Given the description of an element on the screen output the (x, y) to click on. 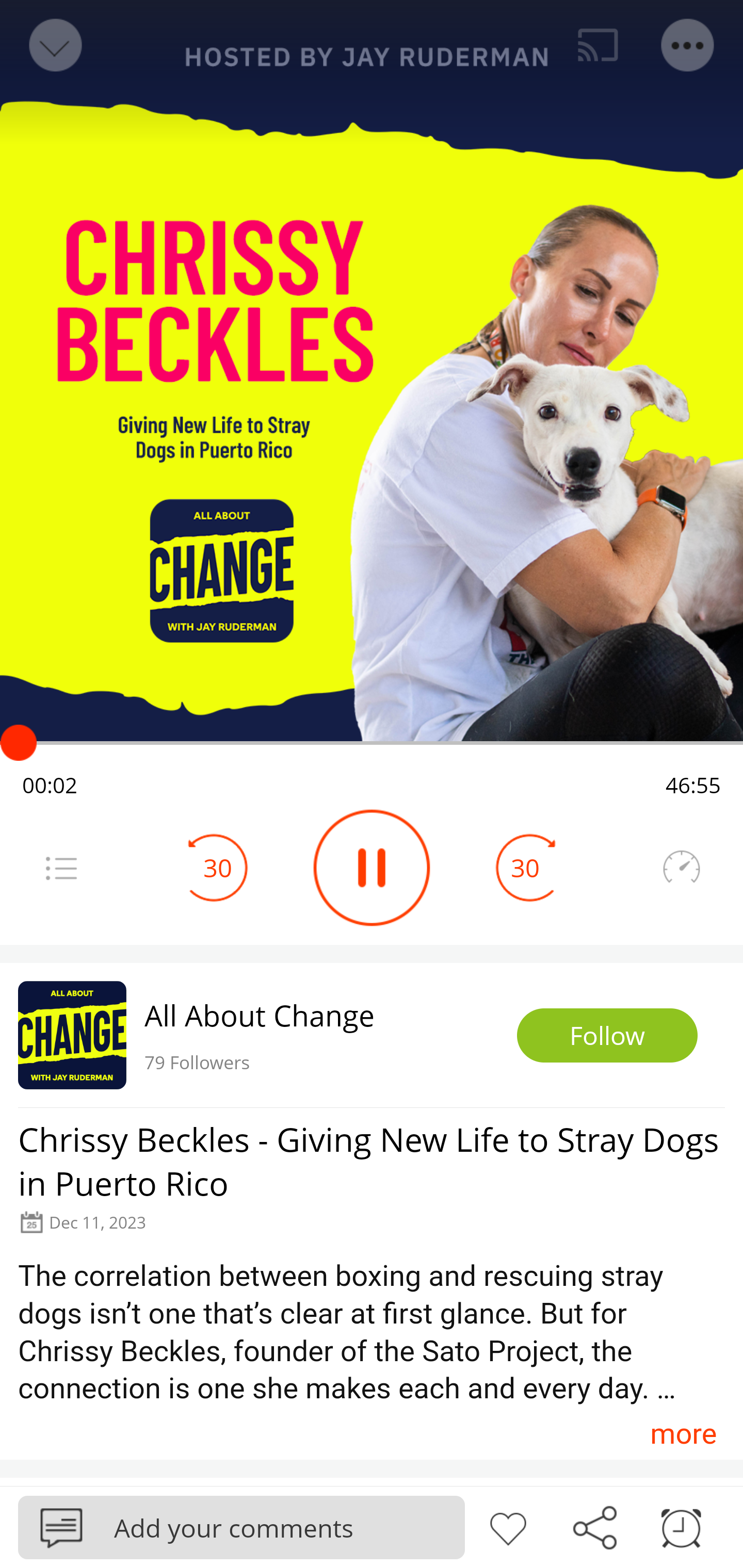
Back (53, 45)
Cast. Disconnected (597, 45)
Menu (688, 45)
Play (371, 867)
30 Seek Backward (217, 867)
30 Seek Forward (525, 867)
Menu (60, 867)
Speedometer (681, 867)
All About Change 79 Followers Follow (371, 1034)
Follow (607, 1035)
more (682, 1432)
Like (508, 1526)
Share (594, 1526)
Sleep timer (681, 1526)
Podbean Add your comments (241, 1526)
